Given the description of an element on the screen output the (x, y) to click on. 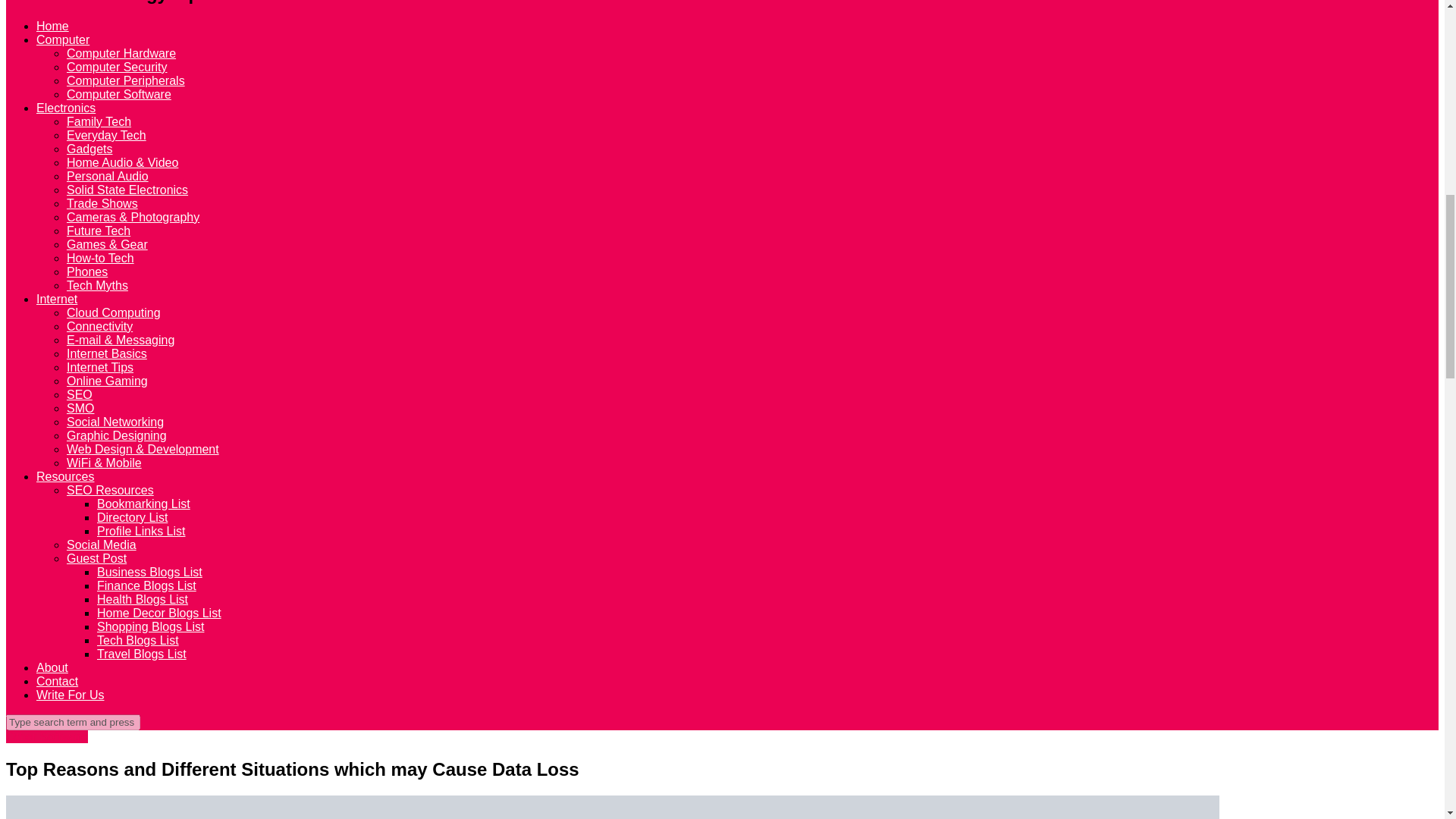
Type search term and press enter (72, 722)
